Given the description of an element on the screen output the (x, y) to click on. 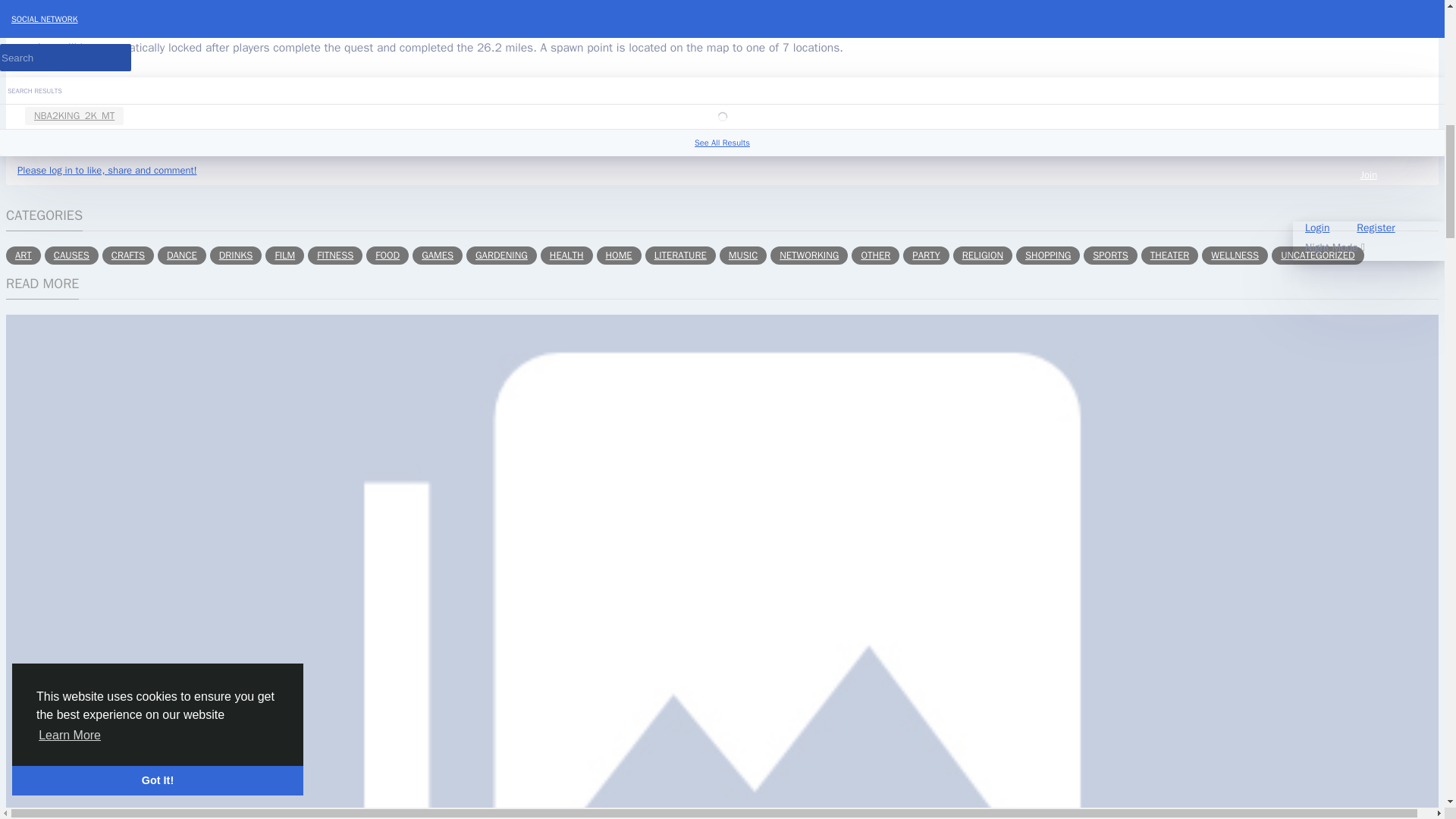
FITNESS (334, 255)
HOME (619, 255)
MUSIC (743, 255)
CRAFTS (127, 255)
PARTY (925, 255)
GARDENING (501, 255)
CAUSES (72, 255)
OTHER (875, 255)
HEALTH (566, 255)
FILM (284, 255)
RELIGION (982, 255)
NETWORKING (808, 255)
DRINKS (235, 255)
DANCE (181, 255)
FOOD (387, 255)
